Given the description of an element on the screen output the (x, y) to click on. 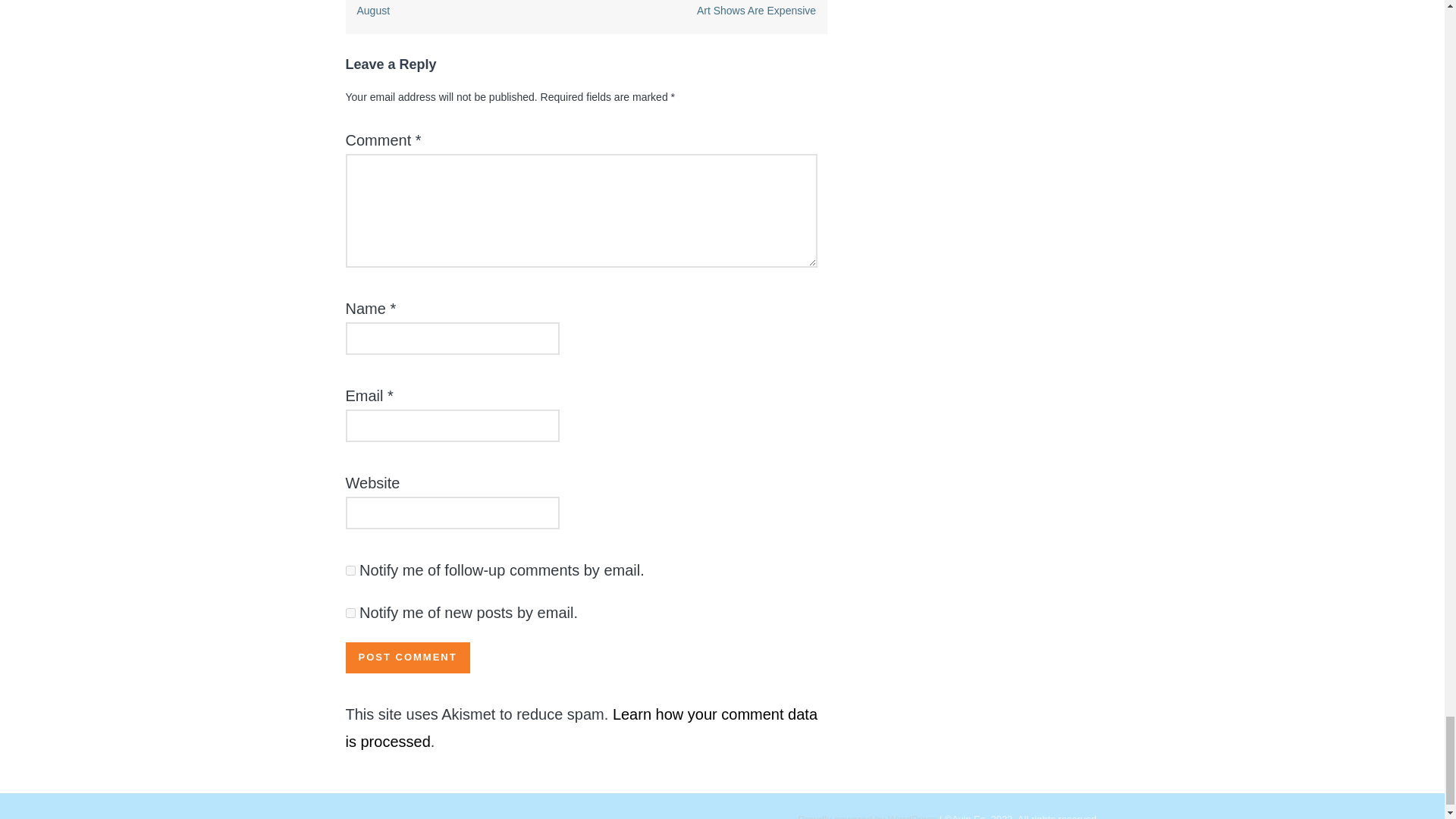
Post Comment (408, 657)
subscribe (350, 613)
subscribe (350, 570)
